Given the description of an element on the screen output the (x, y) to click on. 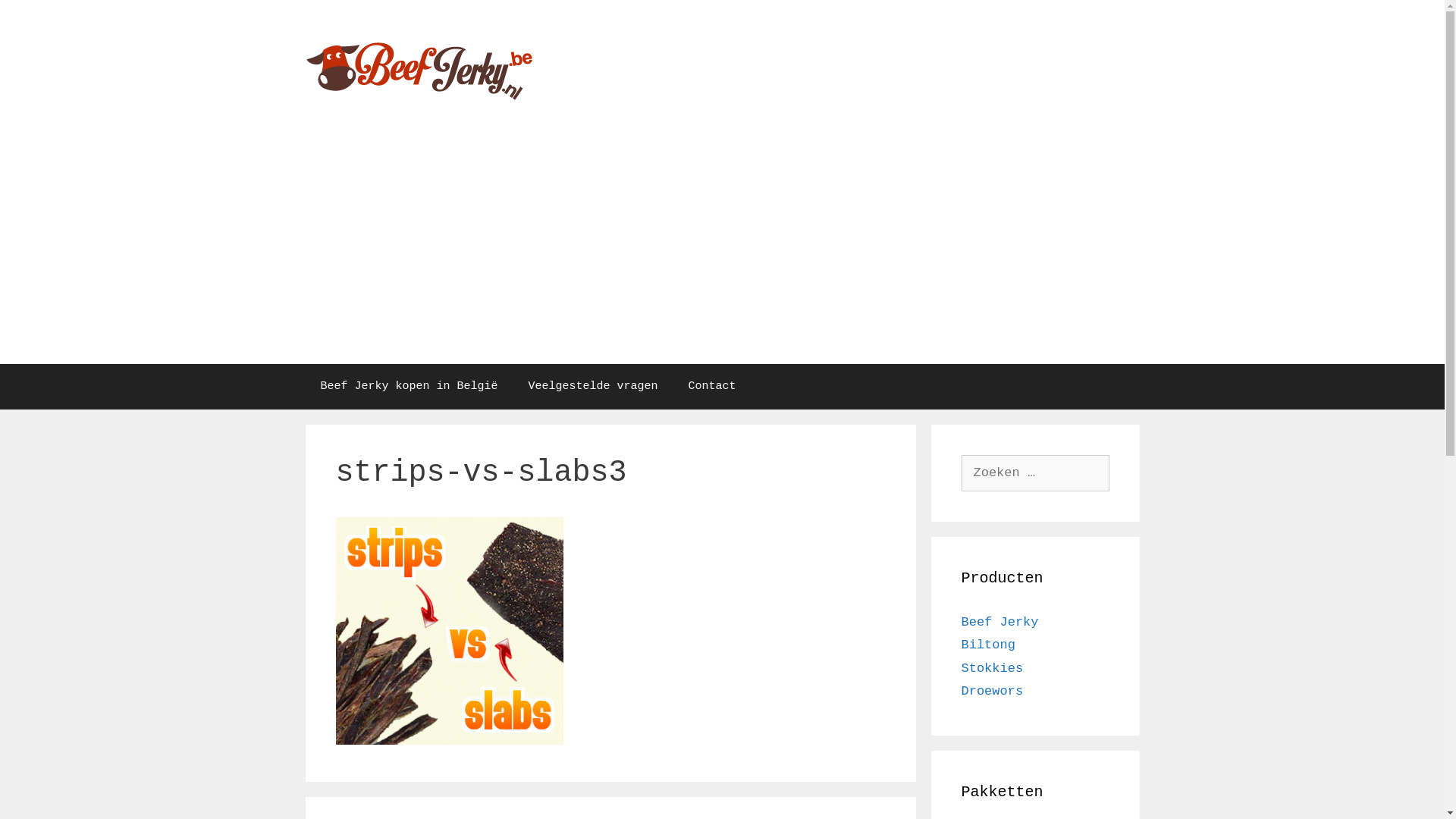
Beef Jerky Element type: hover (418, 68)
Zoek naar: Element type: hover (1035, 473)
Biltong Element type: text (988, 644)
Veelgestelde vragen Element type: text (593, 386)
Stokkies Element type: text (992, 668)
Advertisement Element type: hover (721, 250)
Beef Jerky Element type: text (999, 621)
Zoeken Element type: text (39, 18)
Spring naar inhoud Element type: text (0, 0)
Beef Jerky Element type: hover (418, 67)
Contact Element type: text (712, 386)
Droewors Element type: text (992, 691)
